Given the description of an element on the screen output the (x, y) to click on. 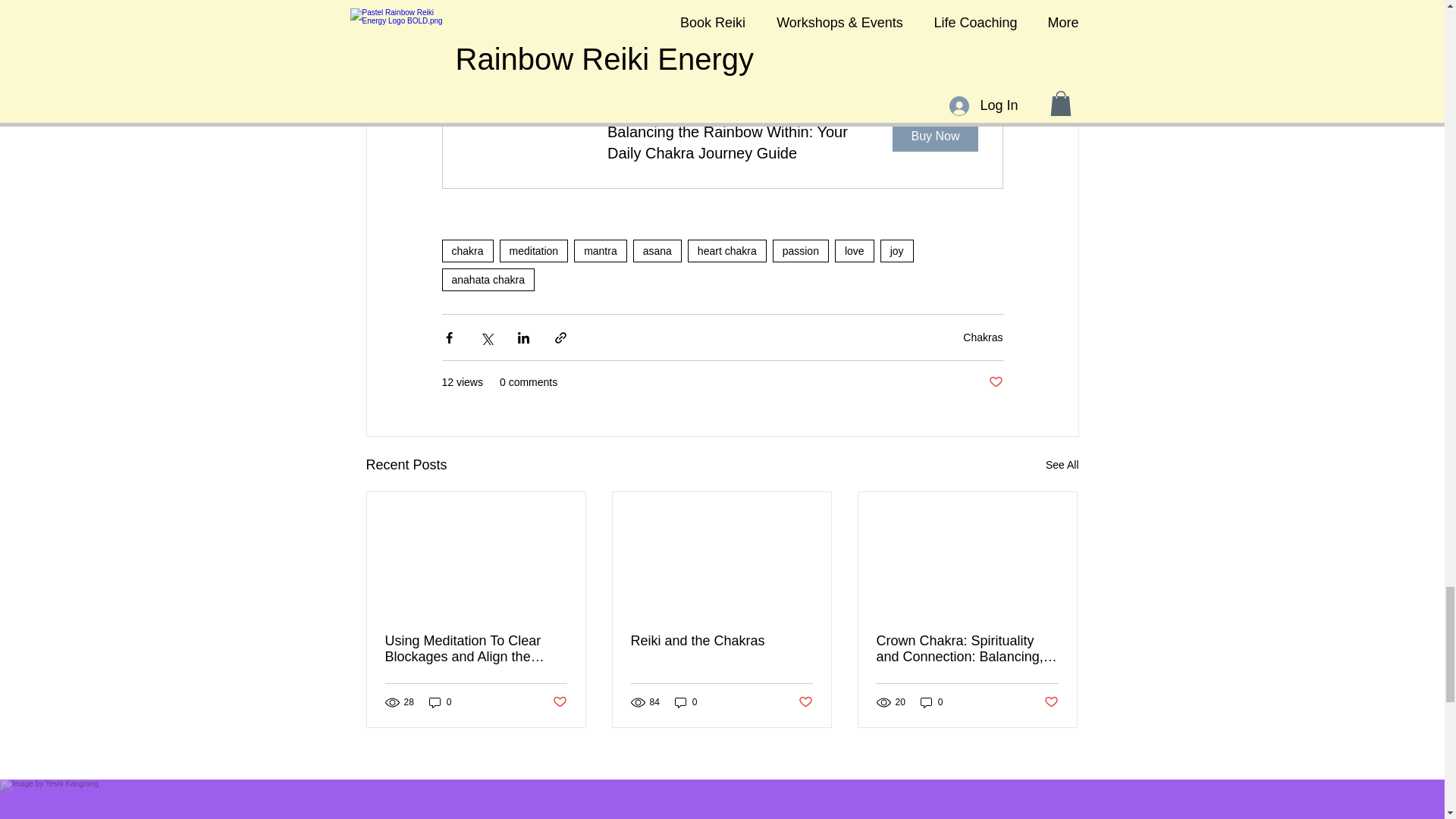
subscribe to get the latest in your inbox (659, 31)
chakra (467, 250)
meditation (534, 250)
